Given the description of an element on the screen output the (x, y) to click on. 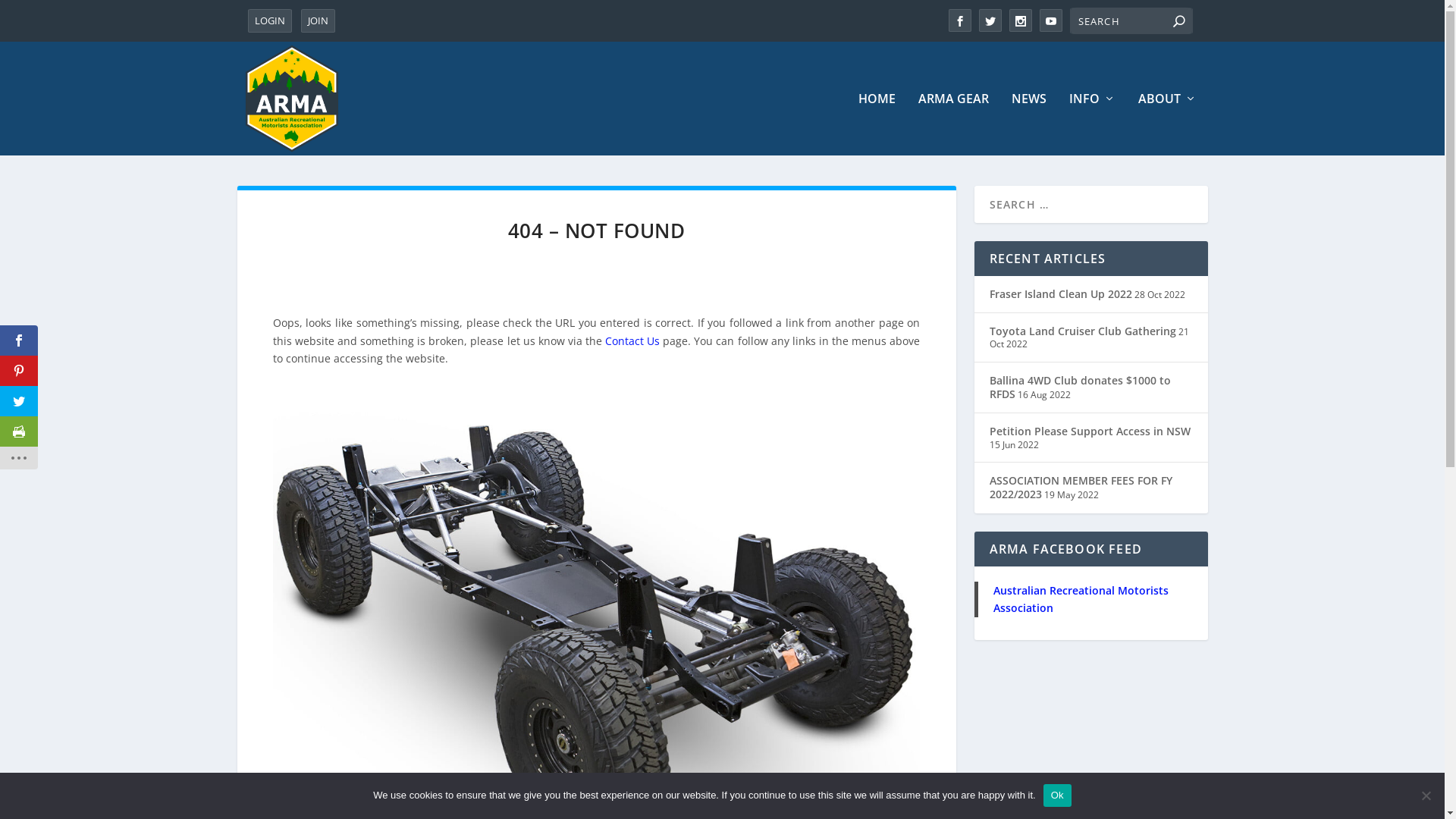
Contact Us Element type: text (632, 340)
Fraser Island Clean Up 2022 Element type: text (1059, 293)
Australian Recreational Motorists Association Element type: text (1080, 598)
Toyota Land Cruiser Club Gathering Element type: text (1081, 330)
Ok Element type: text (1057, 795)
Petition Please Support Access in NSW Element type: text (1088, 430)
LOGIN Element type: text (269, 20)
ARMA GEAR Element type: text (952, 123)
No Element type: hover (1425, 795)
NEWS Element type: text (1028, 123)
INFO Element type: text (1092, 123)
Ballina 4WD Club donates $1000 to RFDS Element type: text (1079, 387)
HOME Element type: text (876, 123)
ABOUT Element type: text (1166, 123)
Search Element type: text (30, 15)
Search for: Element type: hover (1131, 20)
JOIN Element type: text (317, 20)
ASSOCIATION MEMBER FEES FOR FY 2022/2023 Element type: text (1079, 487)
